Given the description of an element on the screen output the (x, y) to click on. 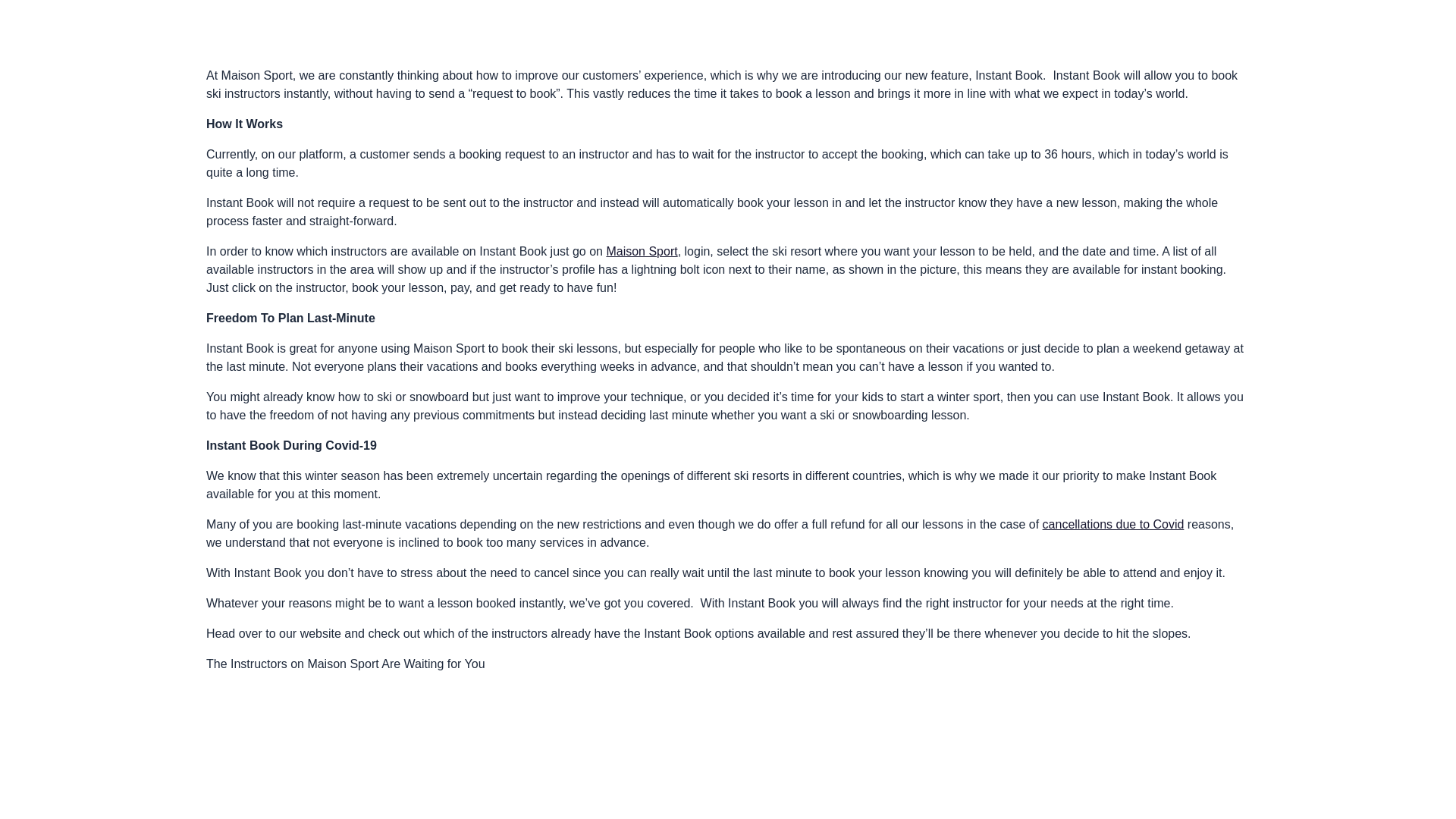
Maison Sport (641, 250)
cancellations due to Covid (1113, 523)
